Given the description of an element on the screen output the (x, y) to click on. 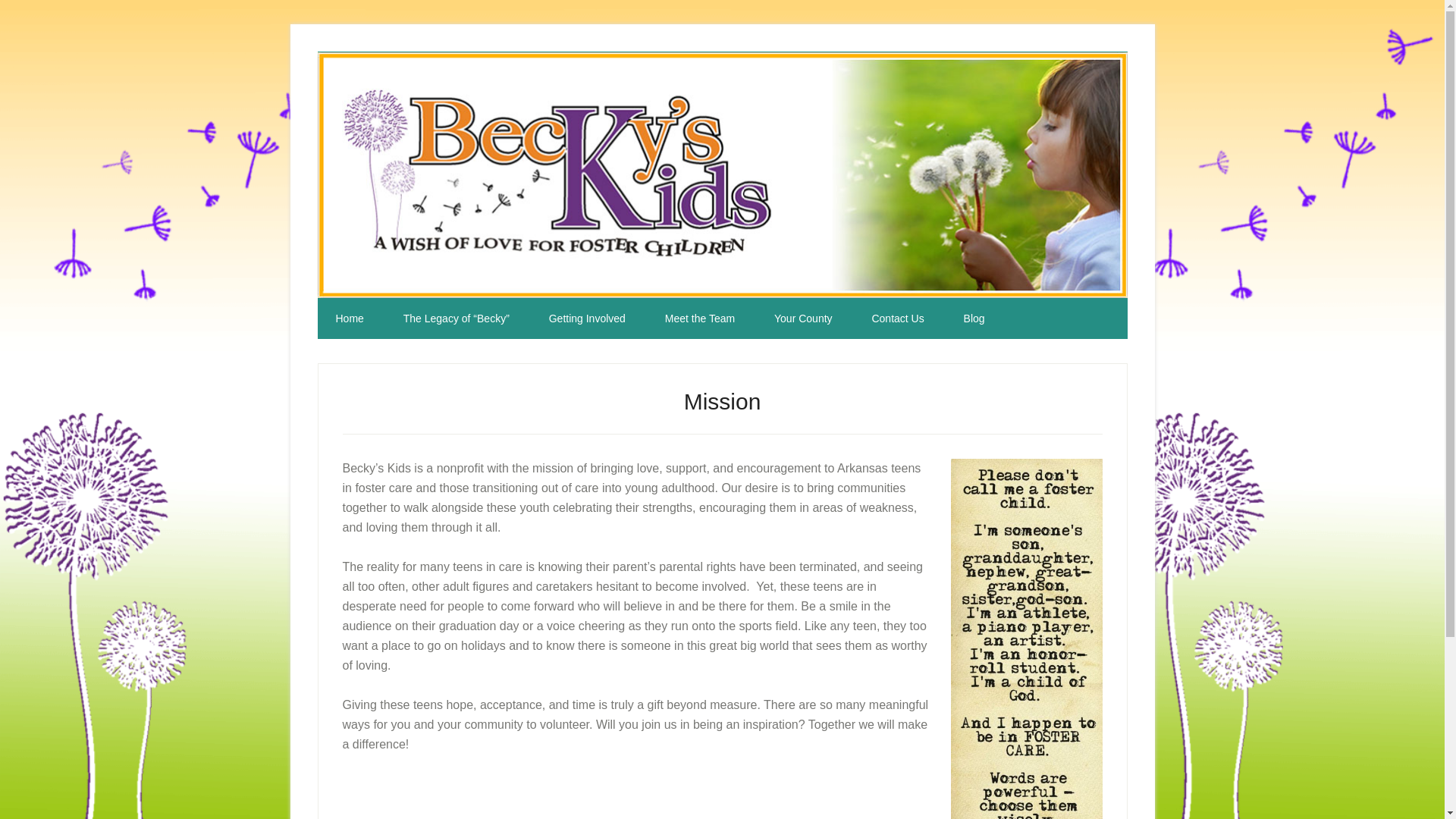
Your County (802, 318)
Meet the Team (699, 318)
Contact Us (897, 318)
Getting Involved (587, 318)
Home (349, 318)
Blog (973, 318)
